Given the description of an element on the screen output the (x, y) to click on. 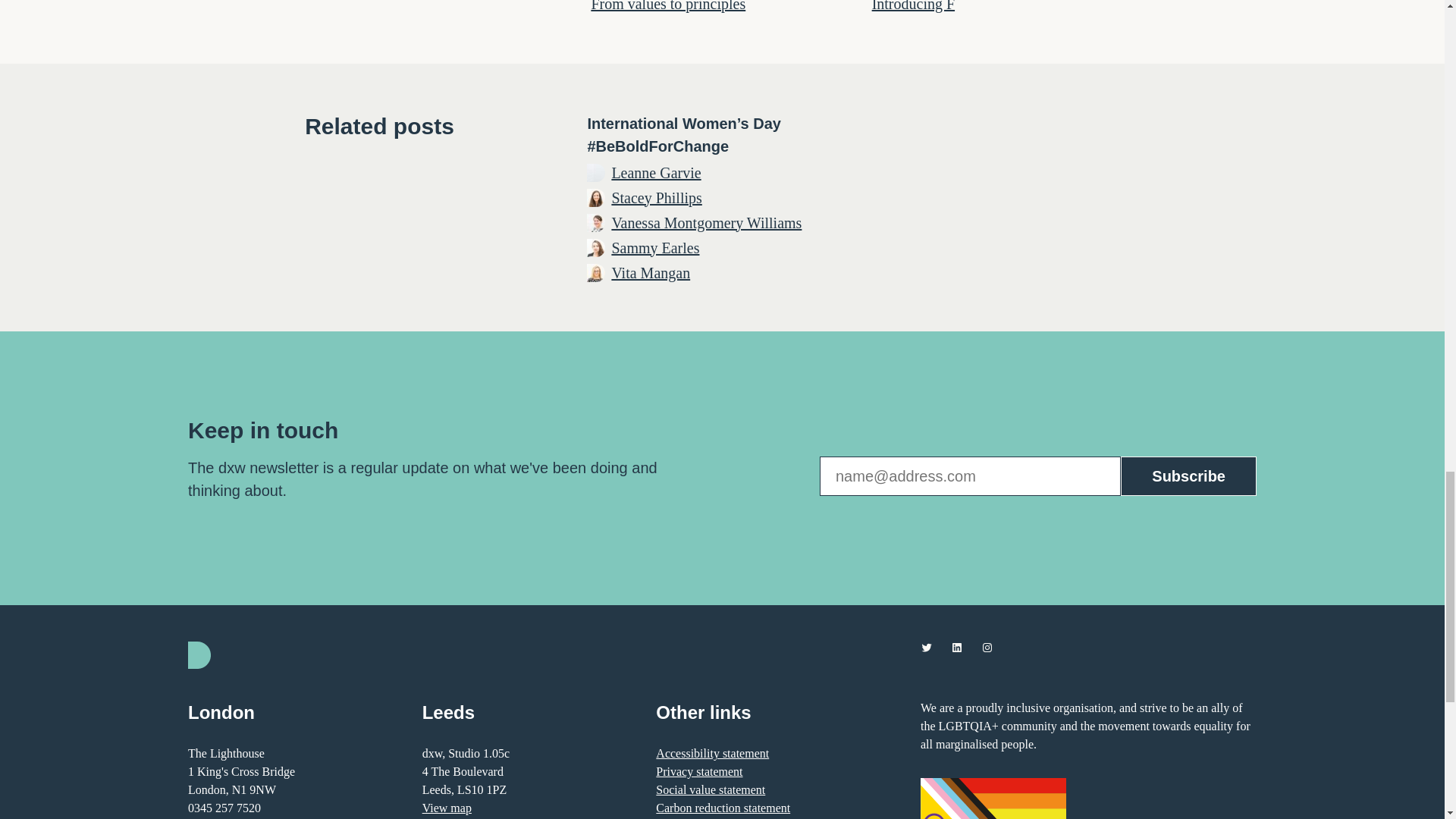
Introducing F (913, 6)
Posts by Sammy Earles (654, 247)
Instagram (986, 647)
Twitter (926, 647)
Vanessa Montgomery Williams (706, 221)
Posts by Stacey Phillips (656, 197)
Posts by Vita Mangan (650, 271)
Stacey Phillips (656, 197)
Sammy Earles (654, 247)
Vita Mangan (650, 271)
